Given the description of an element on the screen output the (x, y) to click on. 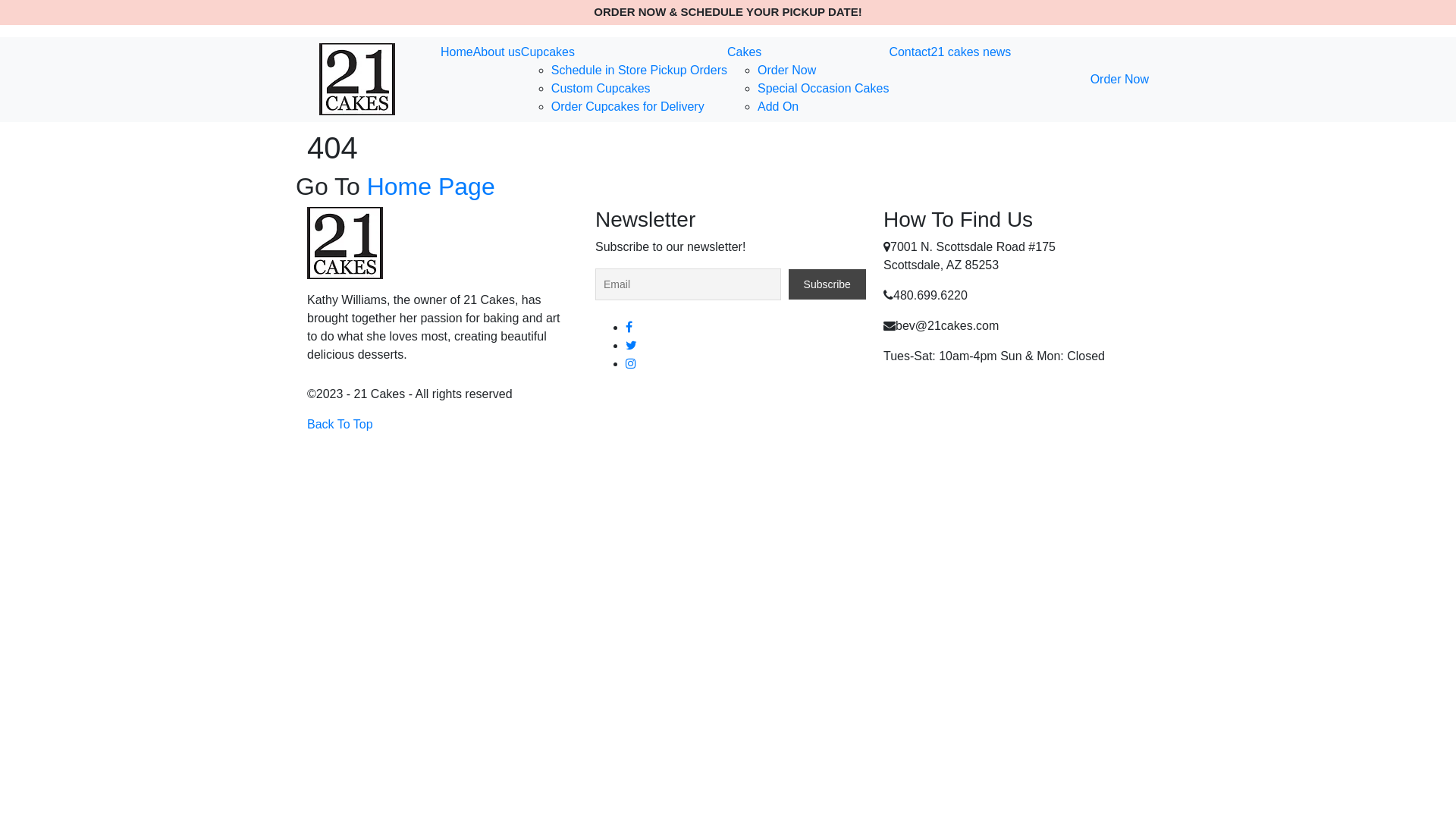
Subscribe Element type: text (827, 284)
About us Element type: text (496, 51)
Home Element type: text (456, 51)
Back To Top Element type: text (340, 423)
Order Now Element type: text (1119, 78)
Cakes Element type: text (744, 51)
Order Cupcakes for Delivery Element type: text (627, 106)
21 cakes news Element type: text (971, 51)
Contact Element type: text (909, 51)
Special Occasion Cakes Element type: text (822, 87)
Home Page Element type: text (431, 186)
Order Now Element type: text (786, 69)
Cupcakes Element type: text (547, 51)
Add On Element type: text (777, 106)
Schedule in Store Pickup Orders Element type: text (639, 69)
Custom Cupcakes Element type: text (600, 87)
